Given the description of an element on the screen output the (x, y) to click on. 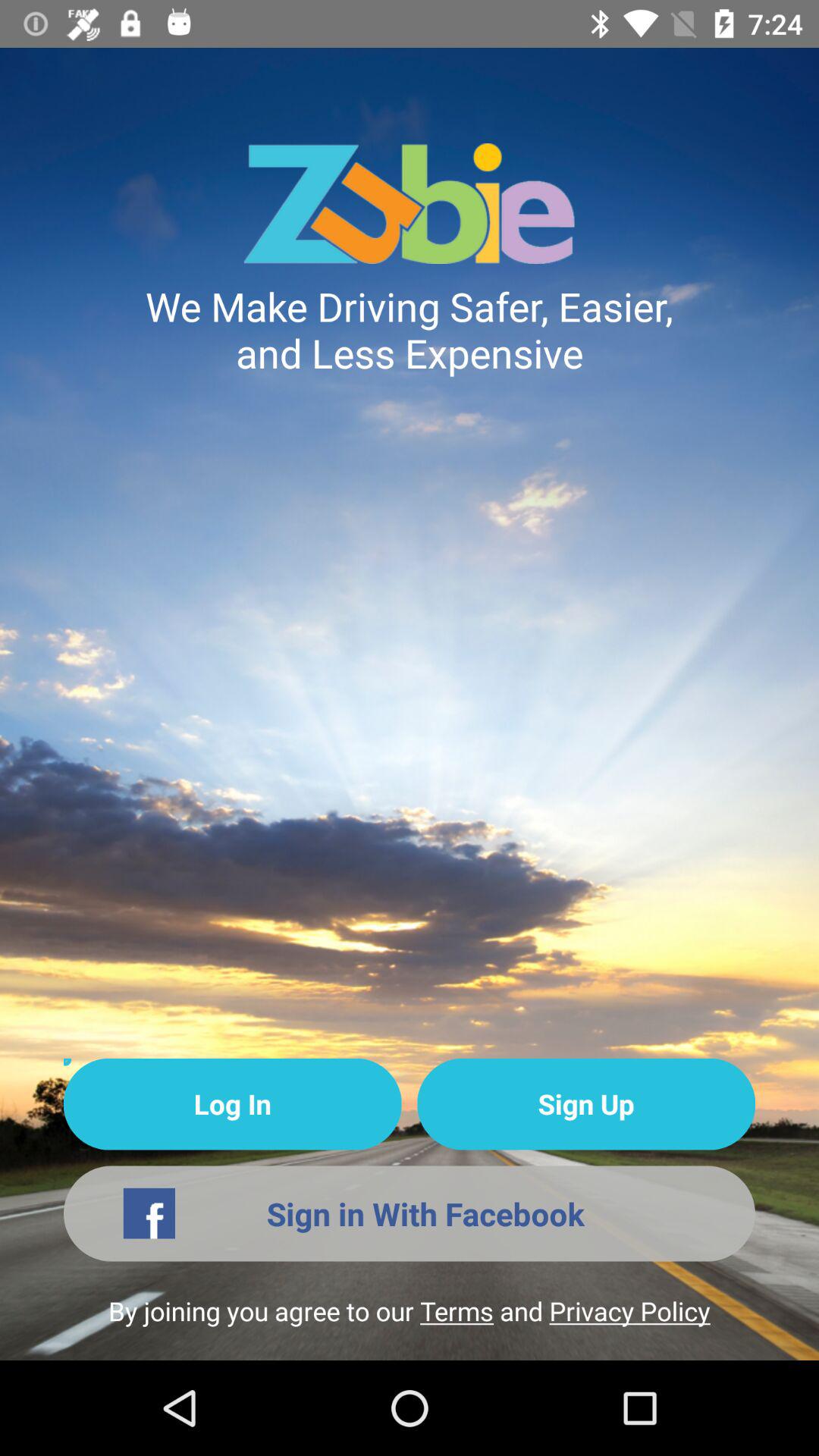
launch the item below log in item (409, 1213)
